Given the description of an element on the screen output the (x, y) to click on. 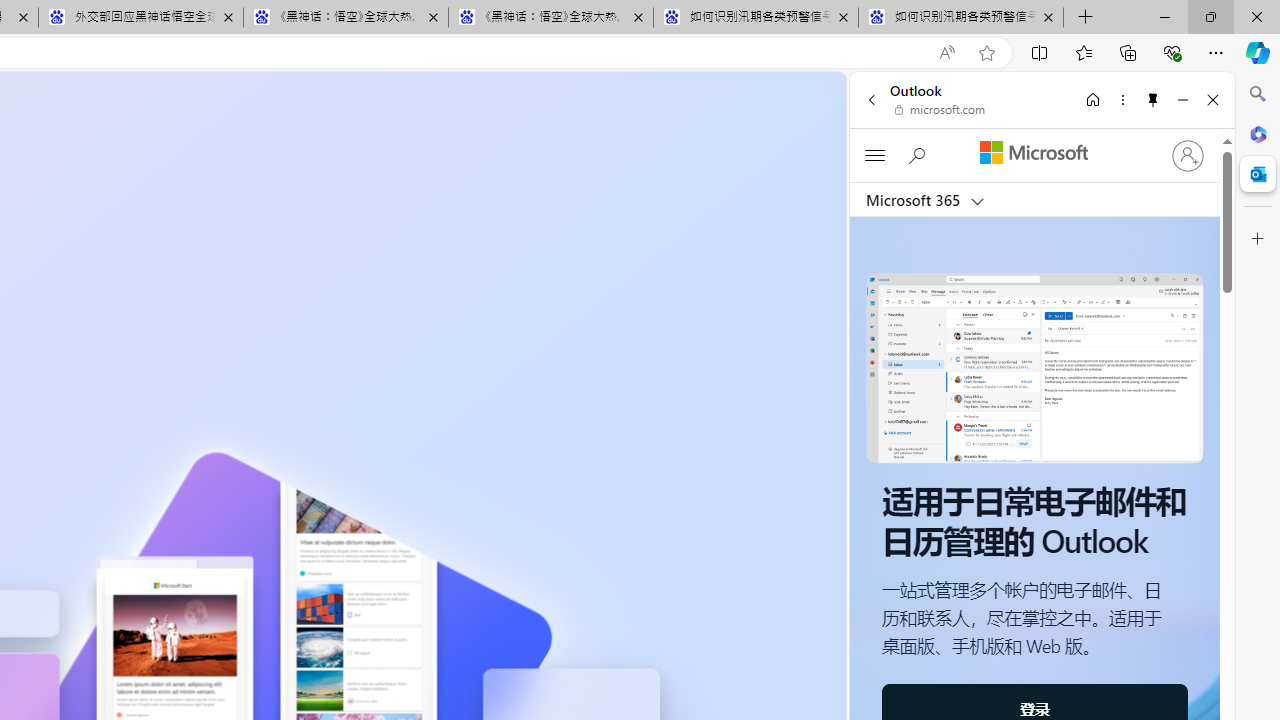
microsoft.com (940, 110)
